Given the description of an element on the screen output the (x, y) to click on. 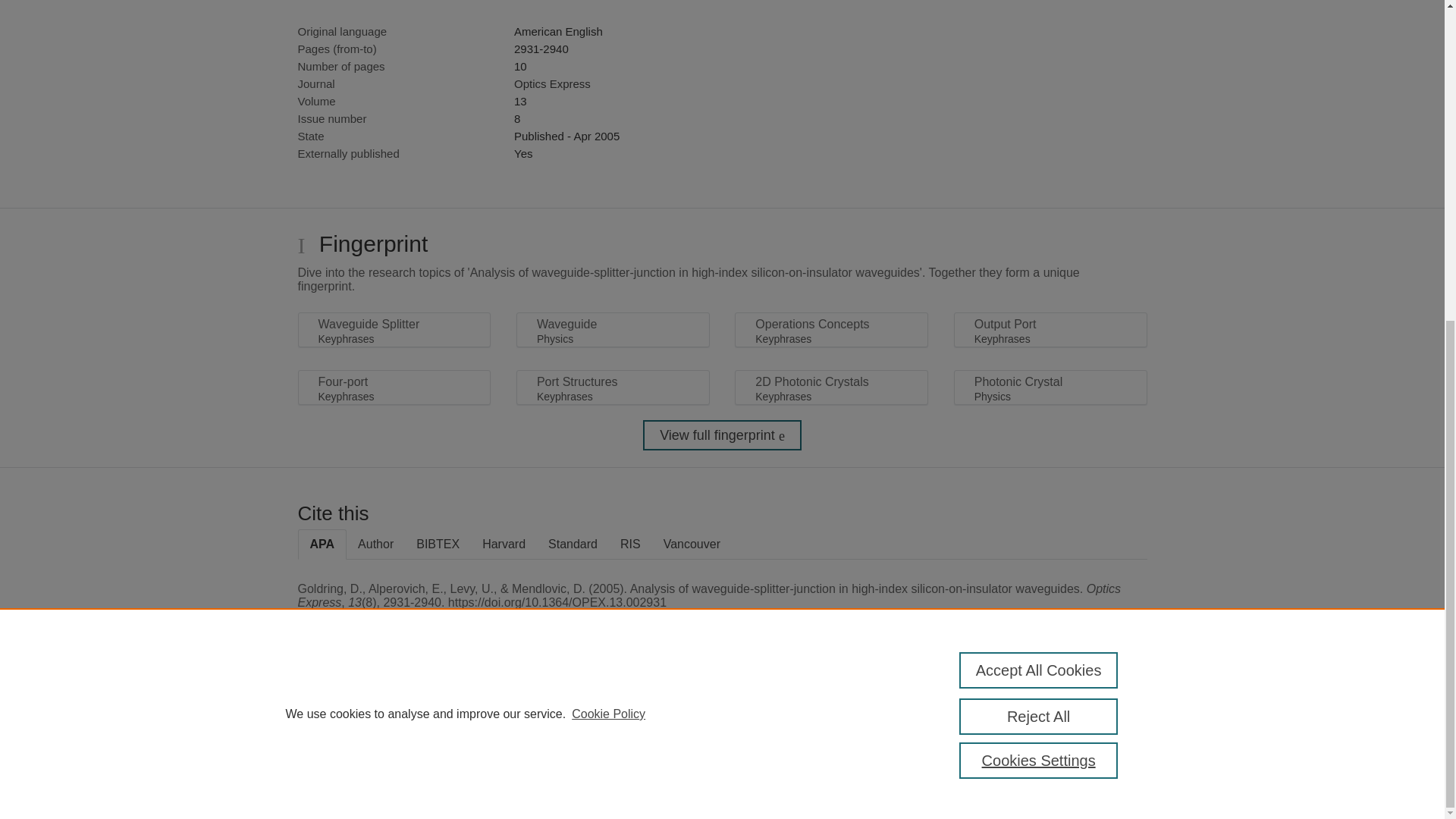
Reject All (1038, 196)
Cookies Settings (1038, 239)
Scopus (394, 708)
Accept All Cookies (1038, 149)
Cookies Settings (334, 781)
Report vulnerability (1088, 745)
About web accessibility (1088, 713)
Pure (362, 708)
use of cookies (796, 760)
View full fingerprint (722, 435)
Cookie Policy (608, 193)
Elsevier B.V. (506, 728)
Optics Express (552, 83)
